Given the description of an element on the screen output the (x, y) to click on. 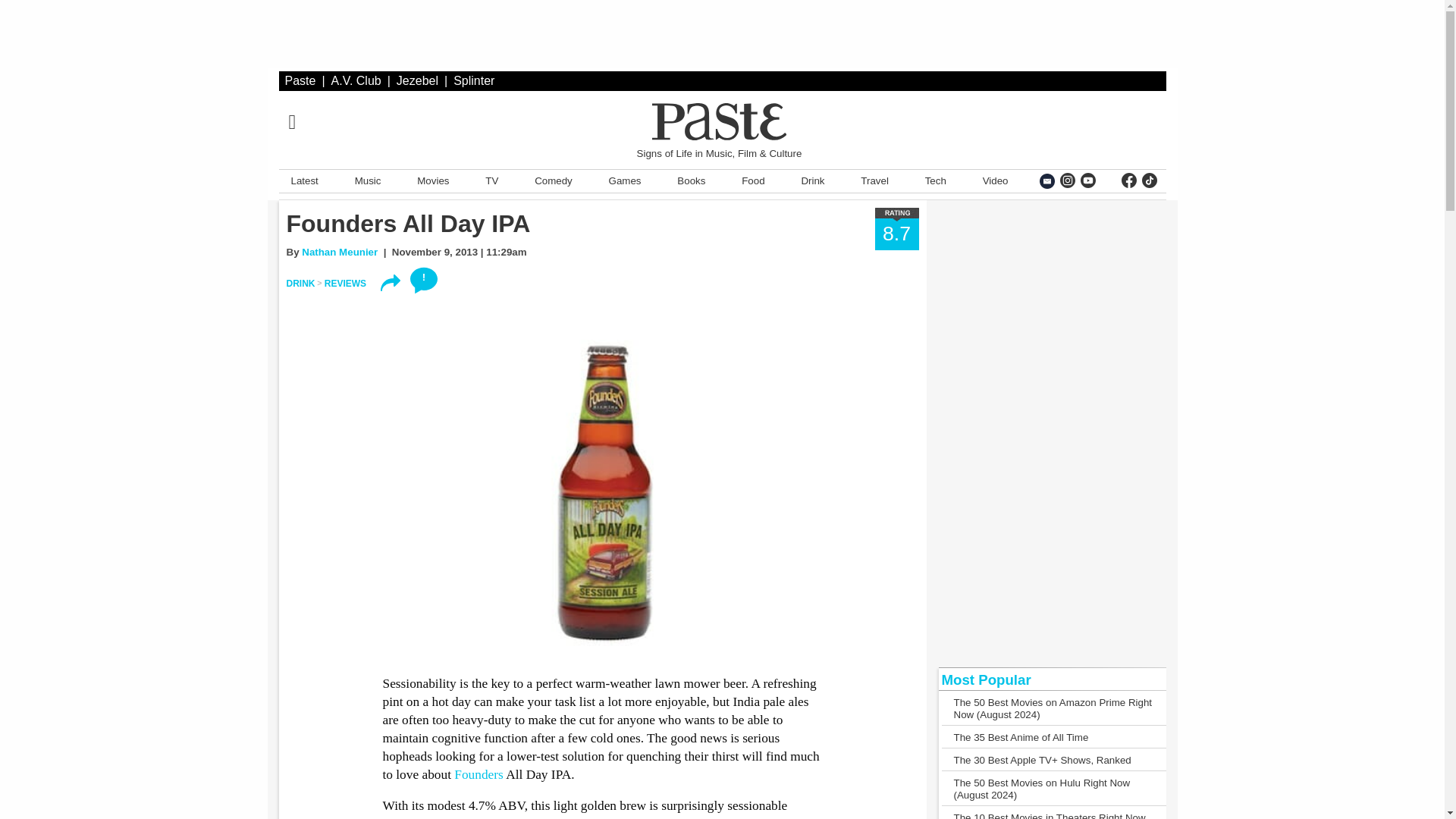
Splinter (473, 80)
TV (491, 180)
Food (752, 180)
Movies (432, 180)
Paste (300, 80)
Travel (874, 180)
Games (624, 180)
Books (691, 180)
Jezebel (417, 80)
Music (368, 180)
